Given the description of an element on the screen output the (x, y) to click on. 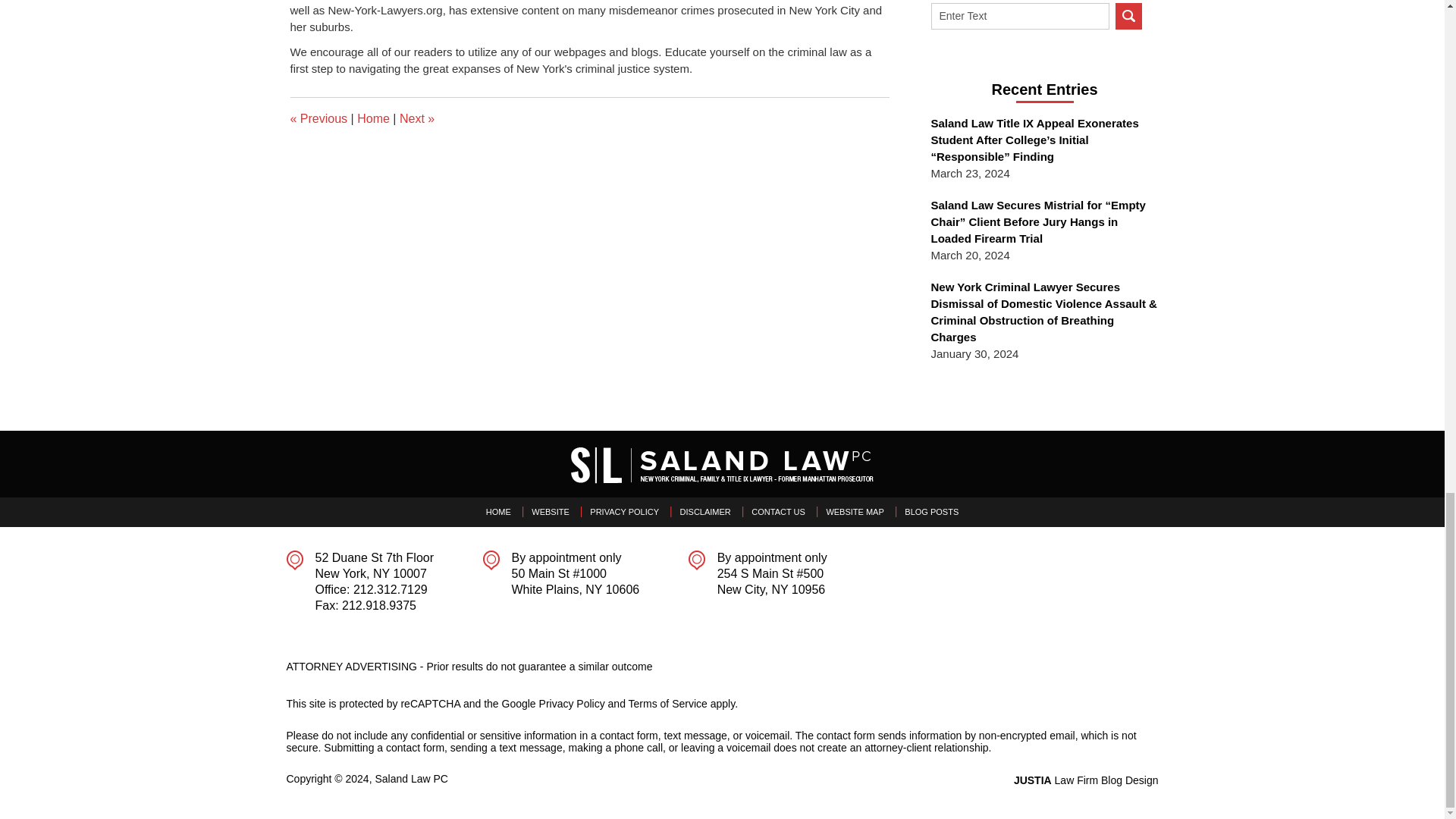
Home (373, 118)
